Given the description of an element on the screen output the (x, y) to click on. 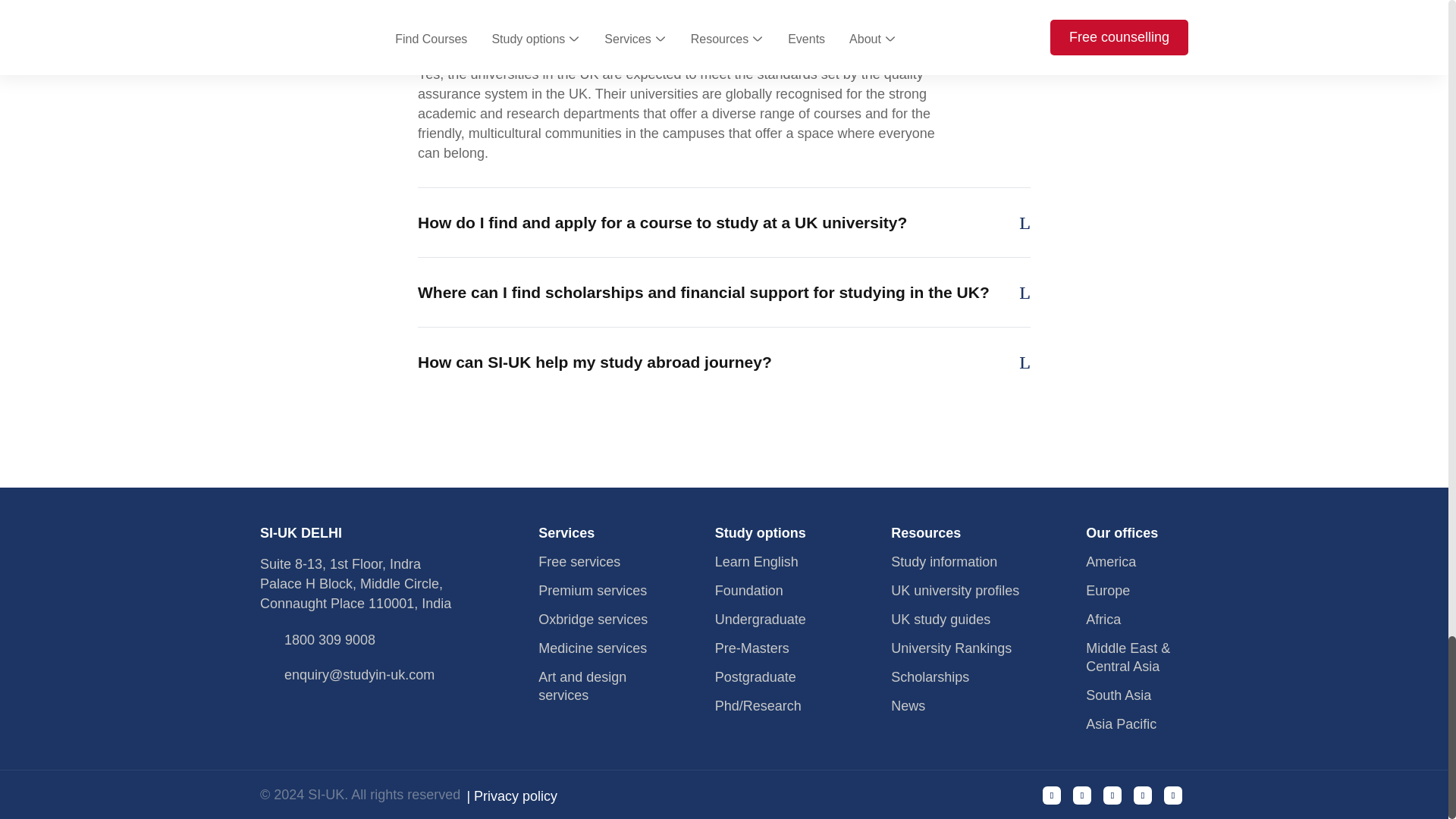
Follow on LinkedIn (1172, 795)
Follow on Instagram (1081, 795)
Follow on X (1142, 795)
Follow on Youtube (1112, 795)
Follow on Facebook (1051, 795)
